Given the description of an element on the screen output the (x, y) to click on. 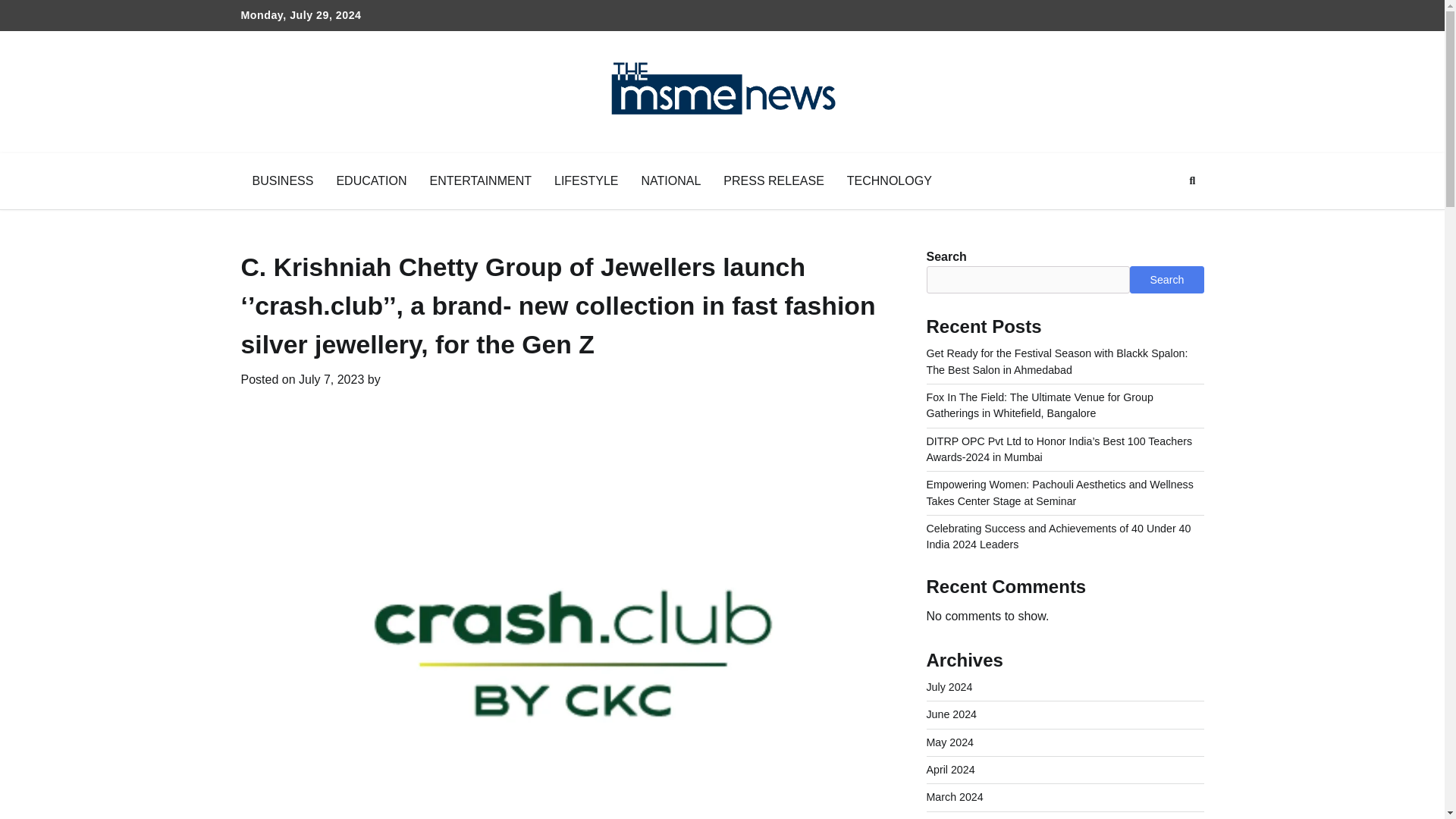
May 2024 (950, 742)
TECHNOLOGY (889, 180)
EDUCATION (370, 180)
June 2024 (951, 714)
LIFESTYLE (585, 180)
April 2024 (950, 769)
NATIONAL (669, 180)
Search (1166, 279)
July 2024 (949, 686)
July 7, 2023 (331, 379)
Search (1164, 216)
